Given the description of an element on the screen output the (x, y) to click on. 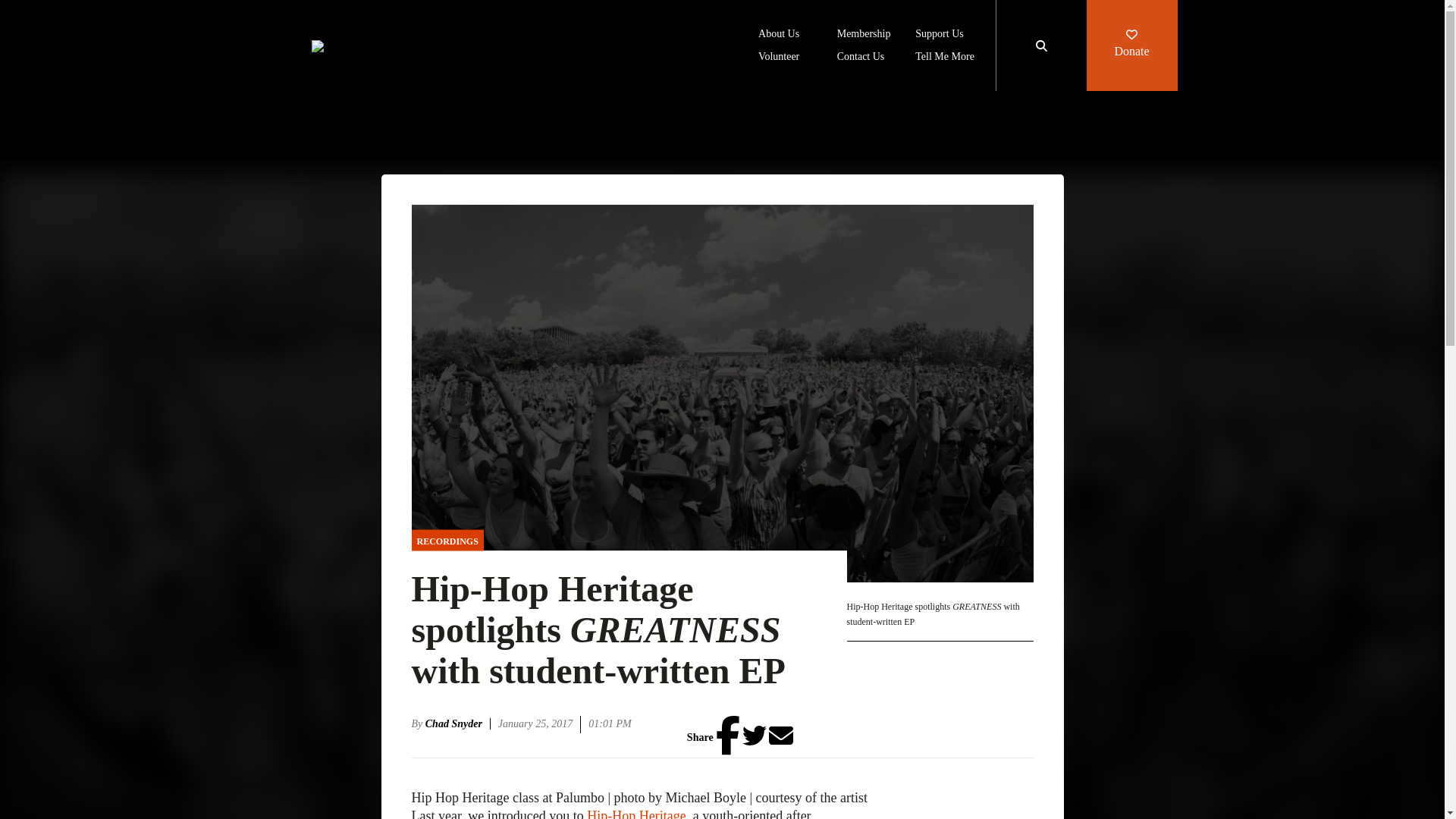
Contact Us (861, 57)
About Us (778, 35)
Hip-Hop Heritage (635, 813)
Tell Me More (944, 57)
Support Us (938, 35)
Chad Snyder (457, 723)
Membership (864, 35)
Volunteer (778, 57)
Donate (1131, 45)
